Given the description of an element on the screen output the (x, y) to click on. 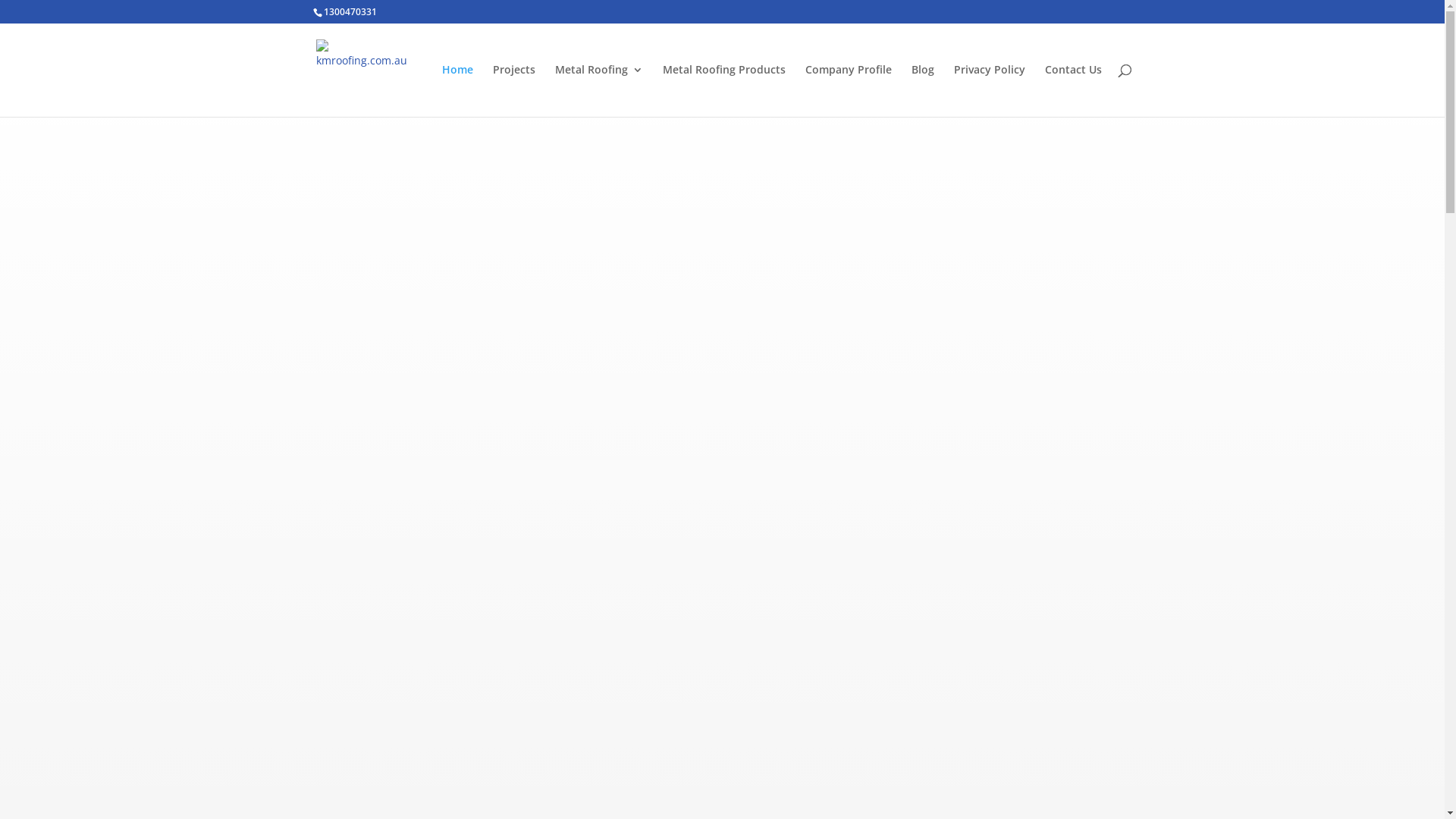
Home Element type: text (456, 90)
Projects Element type: text (513, 90)
Company Profile Element type: text (848, 90)
Blog Element type: text (922, 90)
Metal Roofing Products Element type: text (723, 90)
Contact Us Element type: text (1072, 90)
Metal Roofing Element type: text (599, 90)
Privacy Policy Element type: text (989, 90)
